Given the description of an element on the screen output the (x, y) to click on. 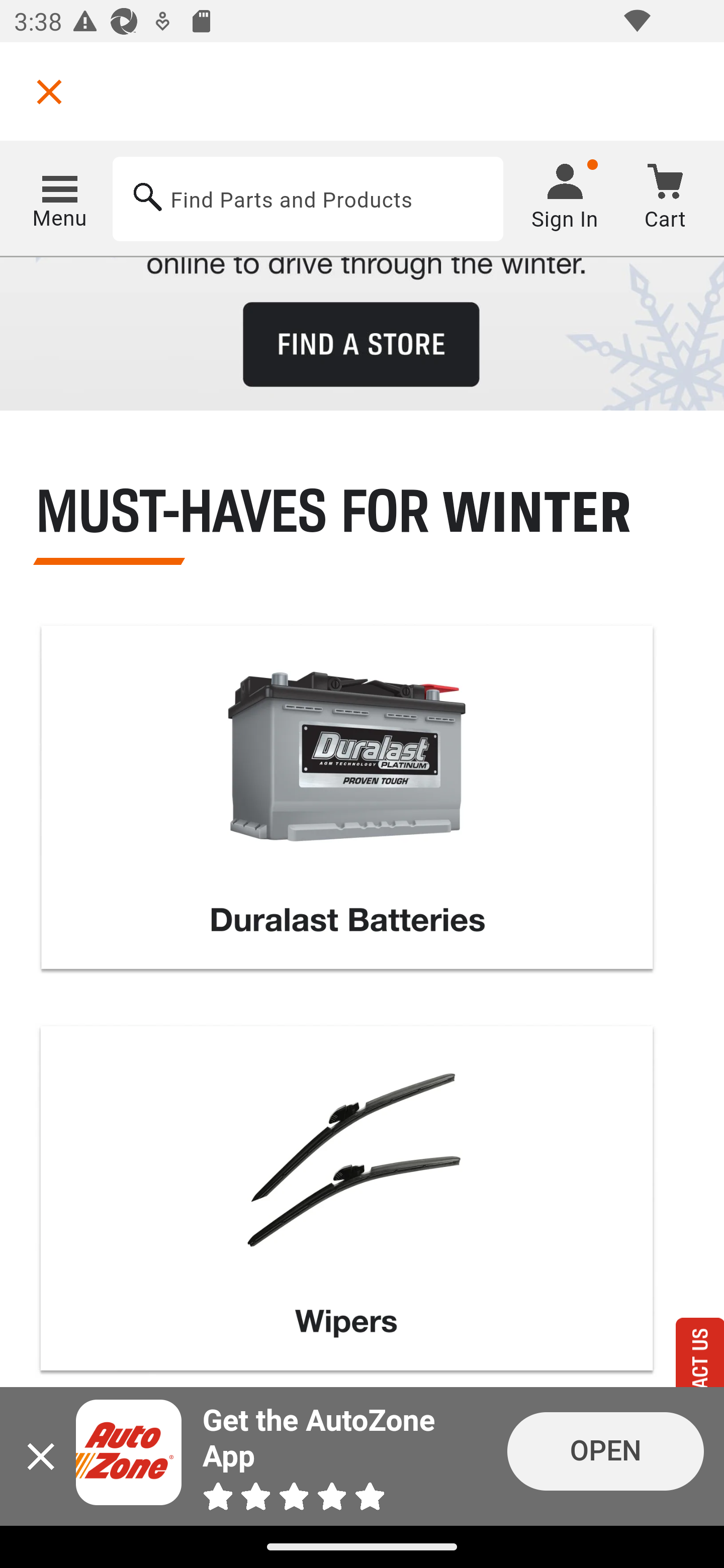
 (49, 91)
Duralast Batteries (347, 802)
Wipers (347, 1204)
Close icon Get the AutoZone App OPEN (362, 1456)
